Given the description of an element on the screen output the (x, y) to click on. 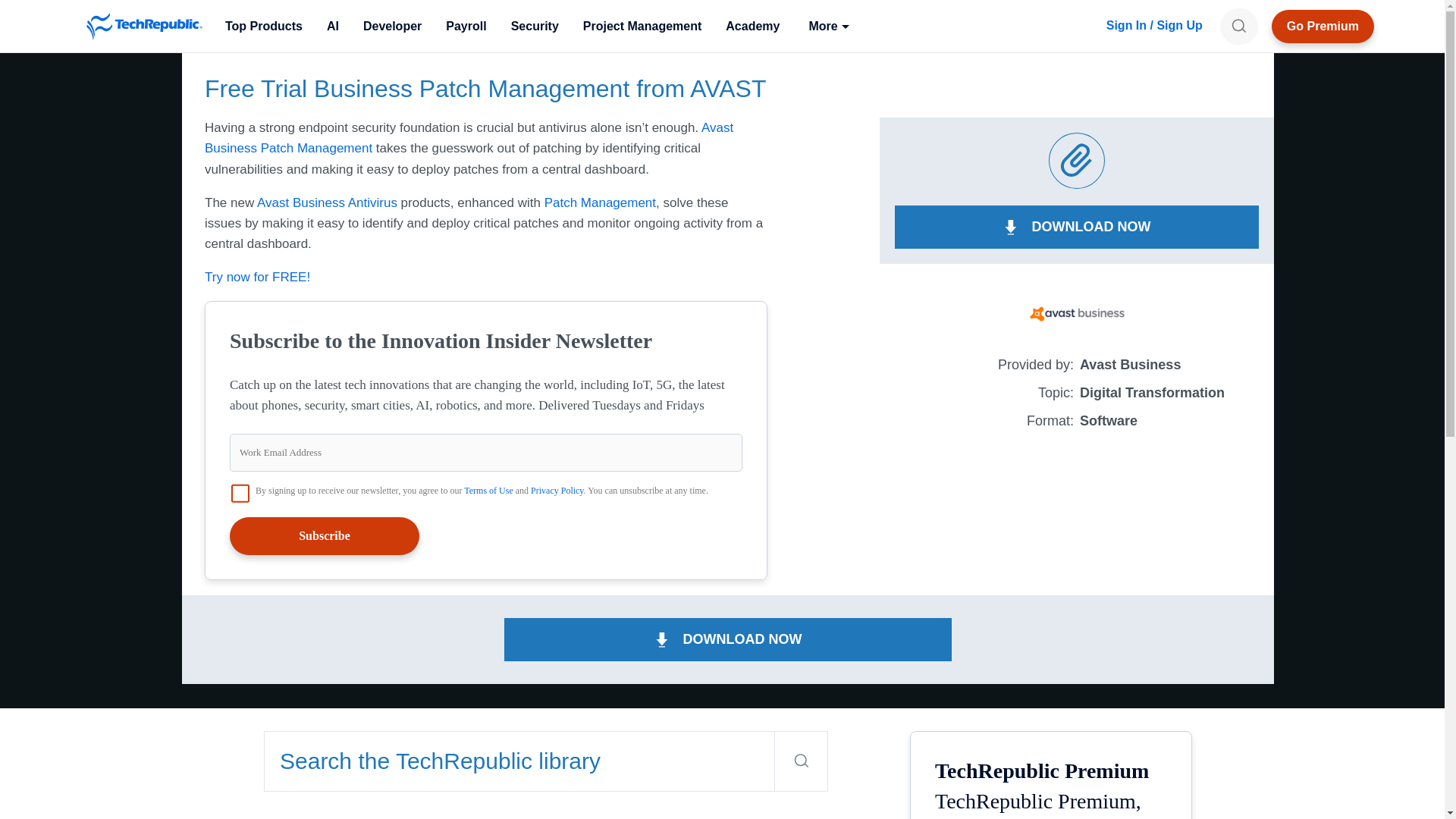
Top Products (263, 26)
Terms of Use (488, 490)
Academy (752, 26)
Subscribe (324, 535)
Avast Business Antivirus (327, 202)
Patch Management (600, 202)
Payroll (465, 26)
on (239, 493)
Try now for FREE! (257, 277)
Security (534, 26)
